Given the description of an element on the screen output the (x, y) to click on. 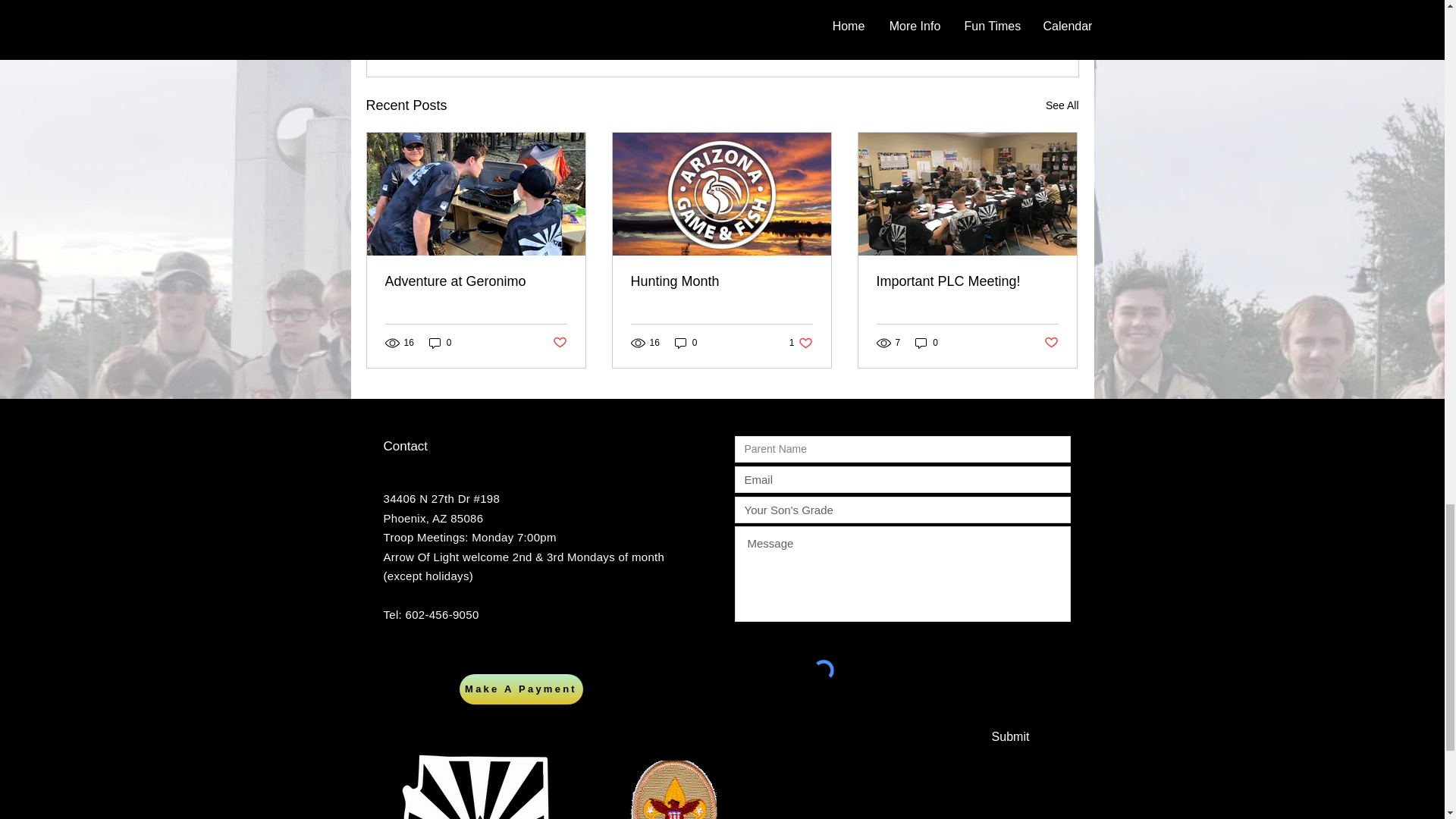
0 (926, 341)
Important PLC Meeting! (967, 281)
0 (800, 341)
Post not marked as liked (685, 341)
Adventure at Geronimo (1050, 342)
Hunting Month (476, 281)
0 (721, 281)
Post not marked as liked (440, 341)
Post not marked as liked (995, 23)
